Given the description of an element on the screen output the (x, y) to click on. 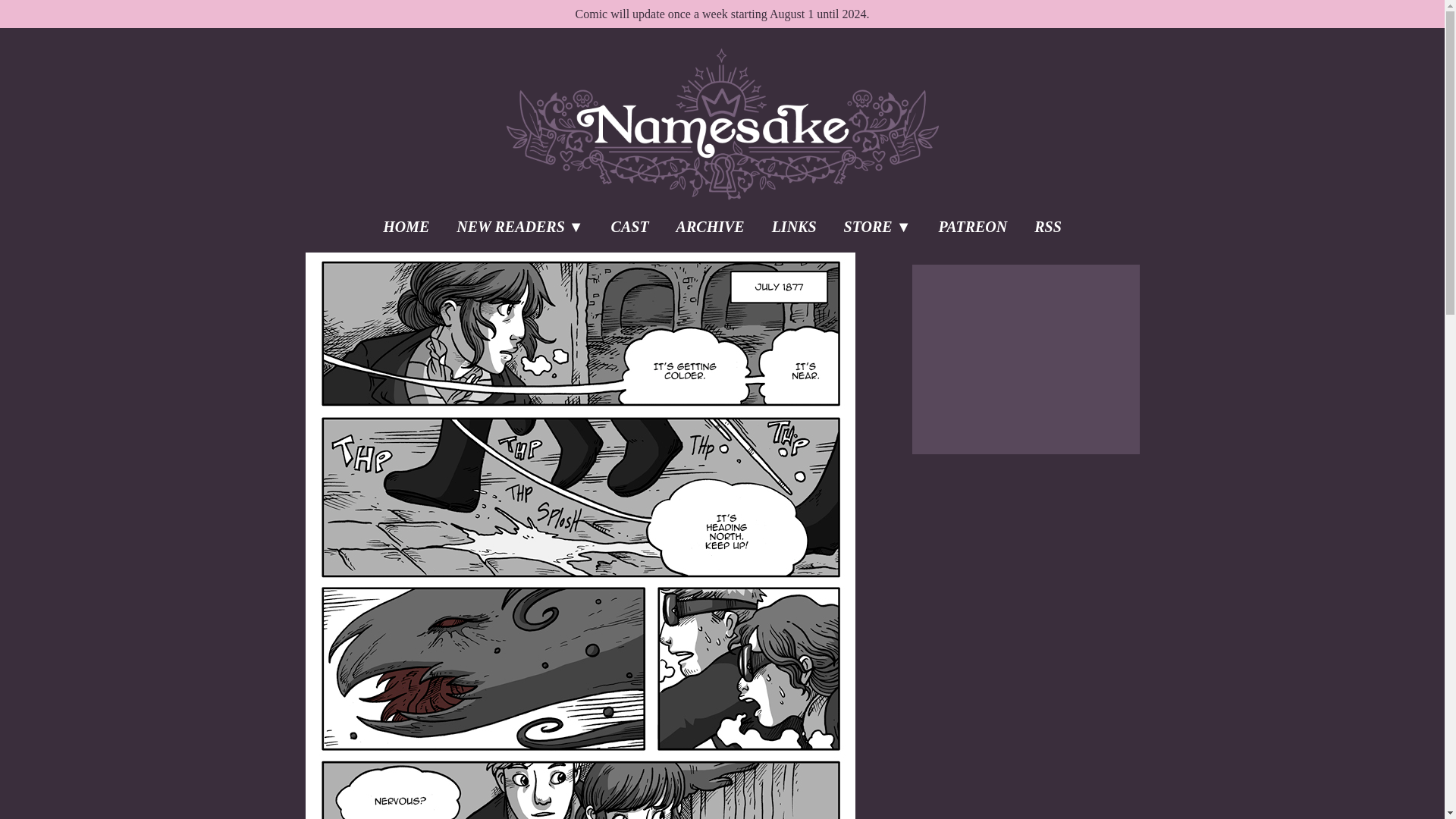
PATREON (972, 226)
STORE (877, 226)
LINKS (794, 226)
HOME (406, 226)
CAST (629, 226)
NEW READERS (519, 226)
ARCHIVE (710, 226)
RSS (1048, 226)
